Given the description of an element on the screen output the (x, y) to click on. 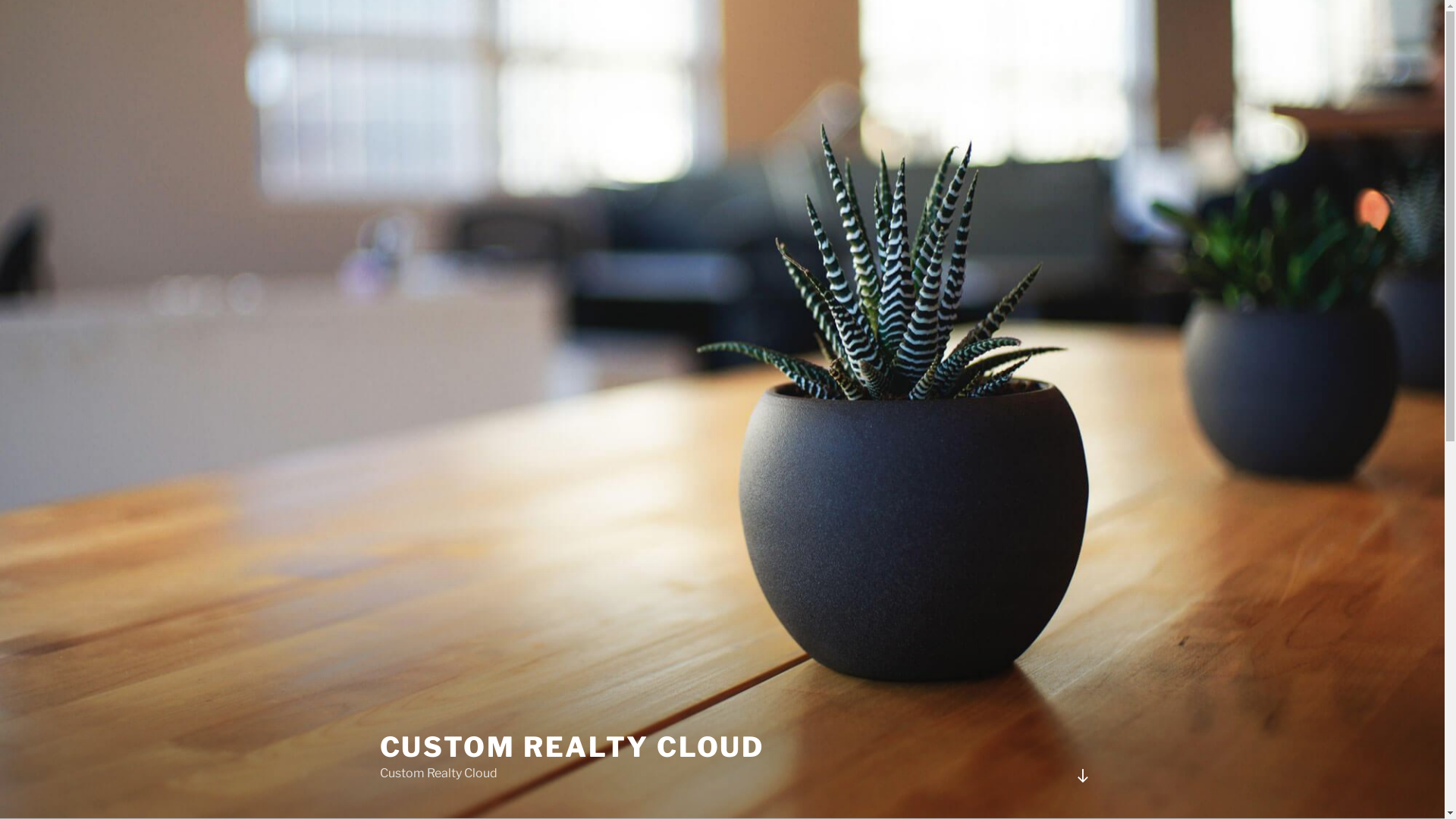
CUSTOM REALTY CLOUD Element type: text (571, 746)
Scroll down to content Element type: text (1082, 775)
